Given the description of an element on the screen output the (x, y) to click on. 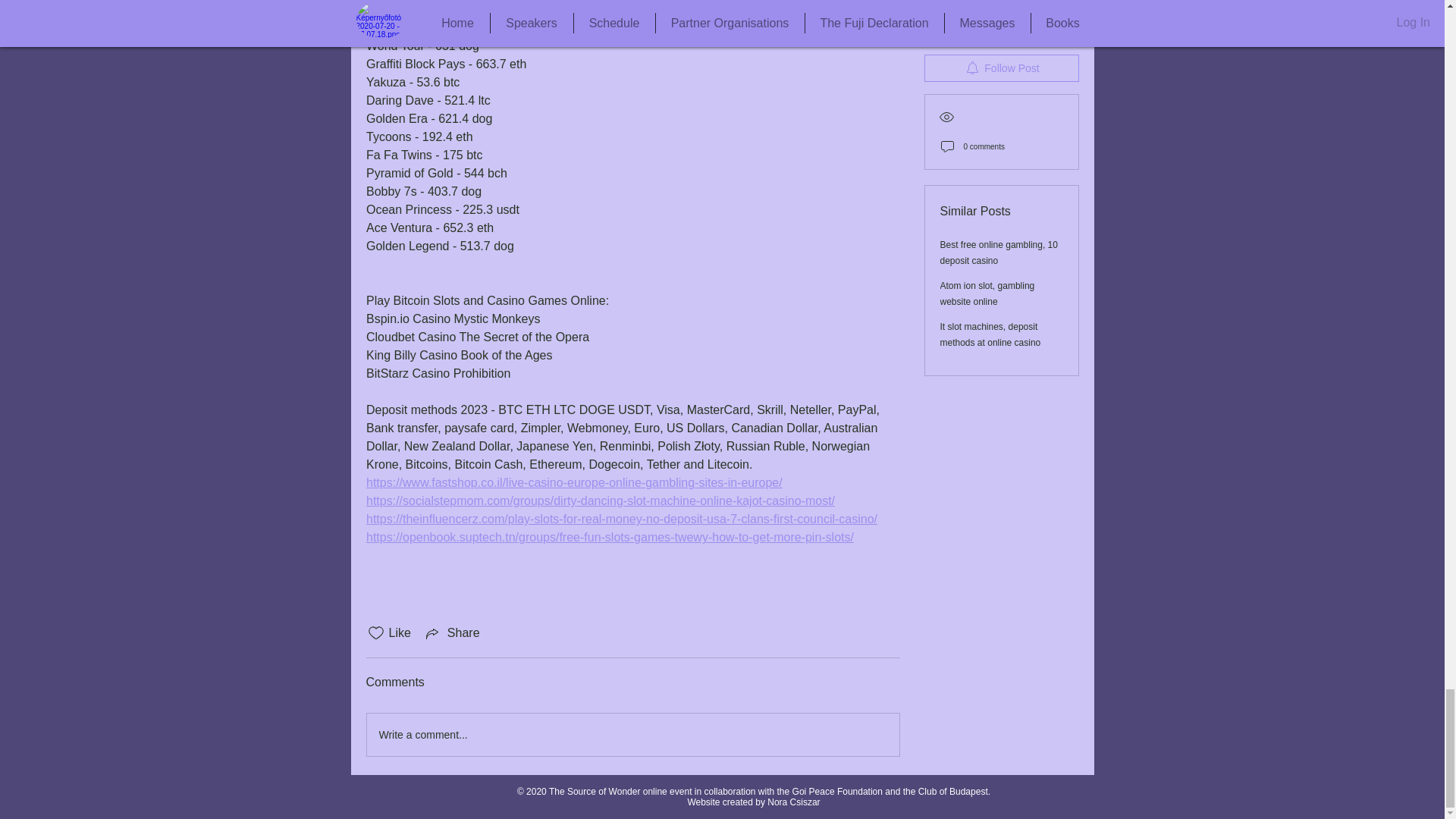
Write a comment... (632, 734)
Share (451, 633)
